Given the description of an element on the screen output the (x, y) to click on. 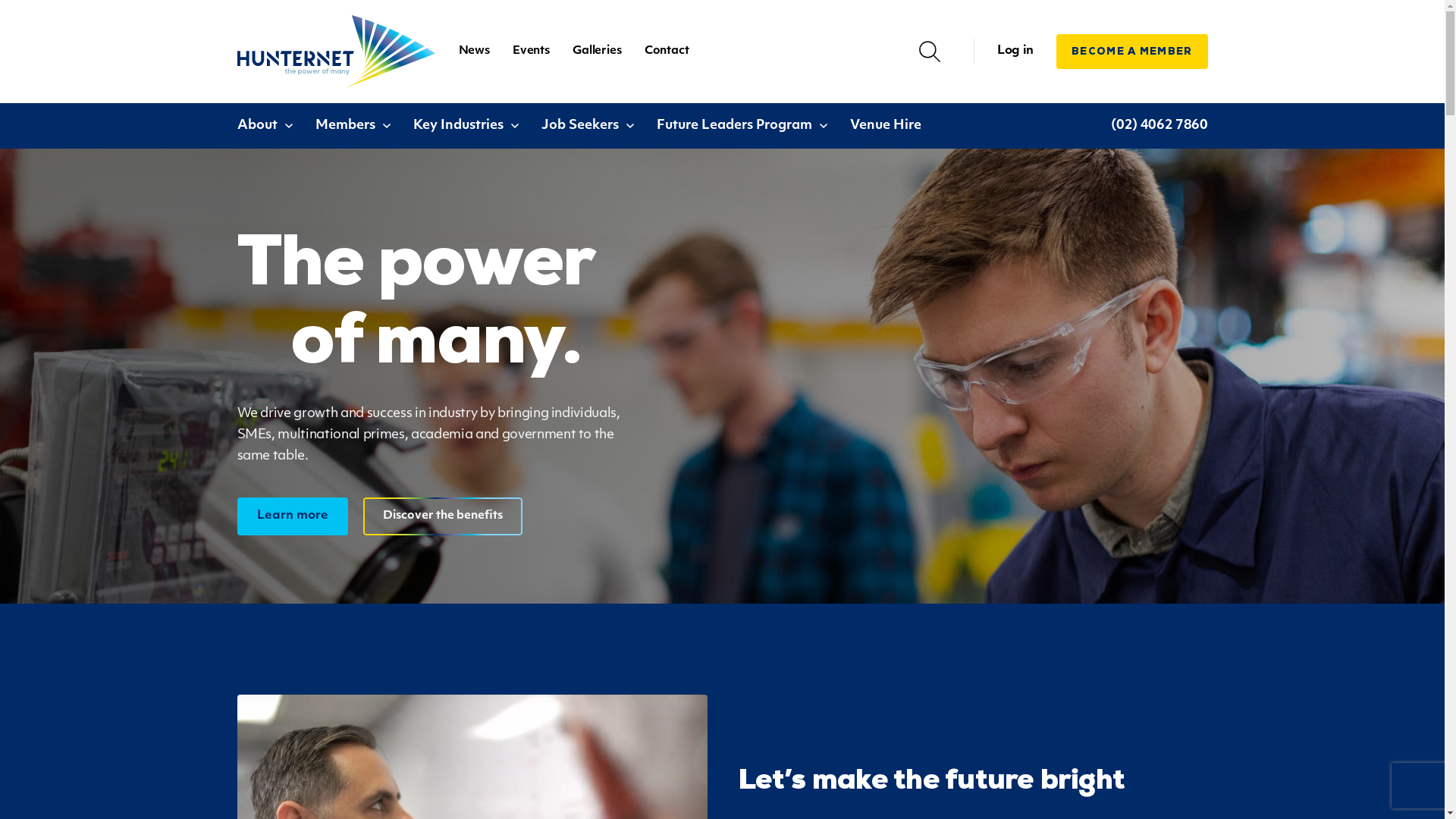
News Element type: text (474, 51)
(02) 4062 7860 Element type: text (1158, 125)
Events Element type: text (531, 51)
Job Seekers Element type: text (586, 125)
Discover the benefits Element type: text (441, 516)
Members Element type: text (352, 125)
BECOME A MEMBER Element type: text (1132, 51)
Open Search Element type: text (929, 51)
Log in Element type: text (1015, 50)
Key Industries Element type: text (465, 125)
Venue Hire Element type: text (885, 125)
Learn more Element type: text (291, 516)
Galleries Element type: text (597, 51)
Contact Element type: text (666, 51)
About Element type: text (264, 125)
Future Leaders Program Element type: text (740, 125)
